Given the description of an element on the screen output the (x, y) to click on. 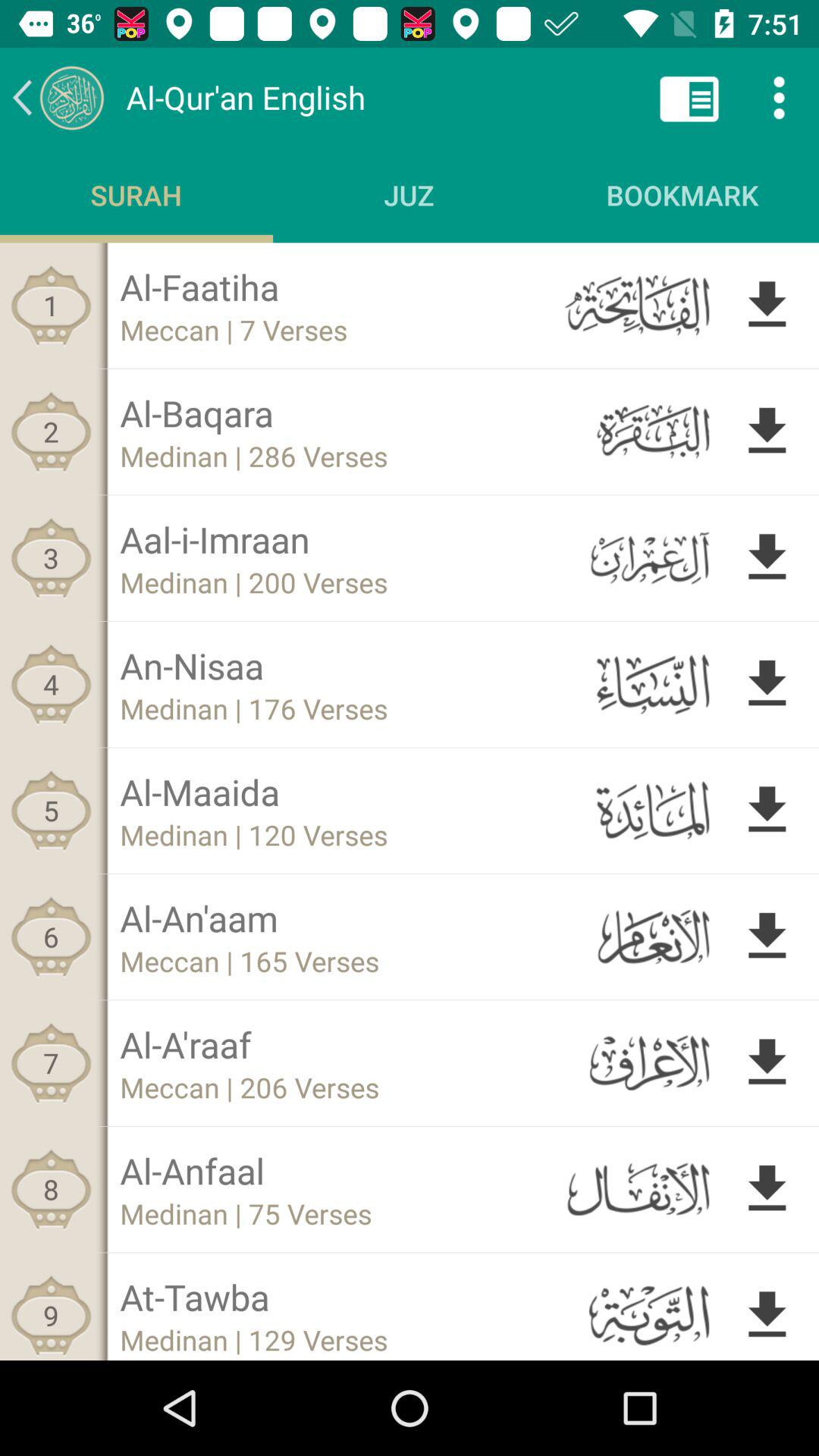
download (767, 1189)
